Given the description of an element on the screen output the (x, y) to click on. 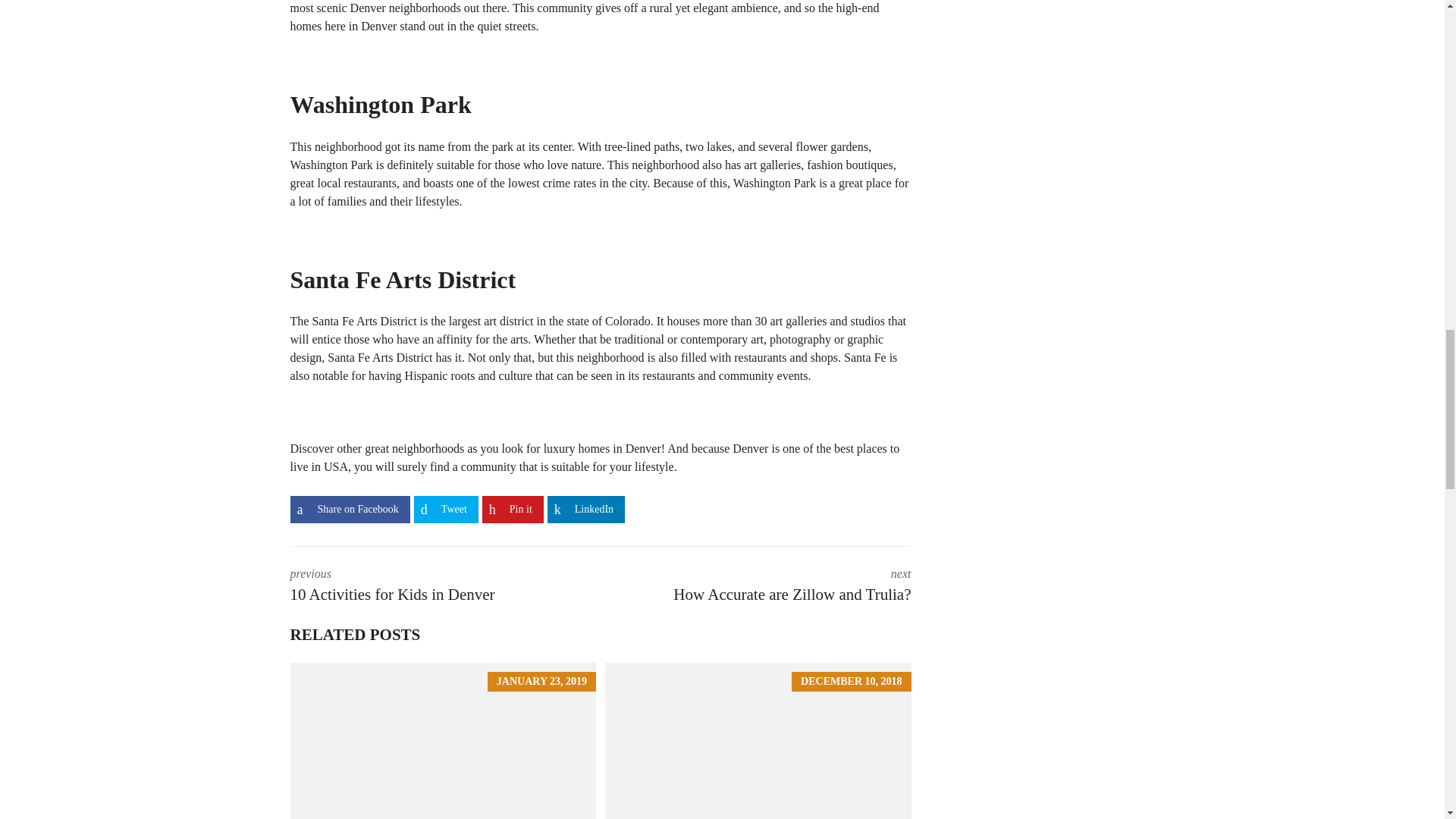
Share on LinkedIn (585, 509)
Share on Pin it (512, 509)
Share on Share on Facebook (349, 509)
Share on Tweet (446, 509)
